Given the description of an element on the screen output the (x, y) to click on. 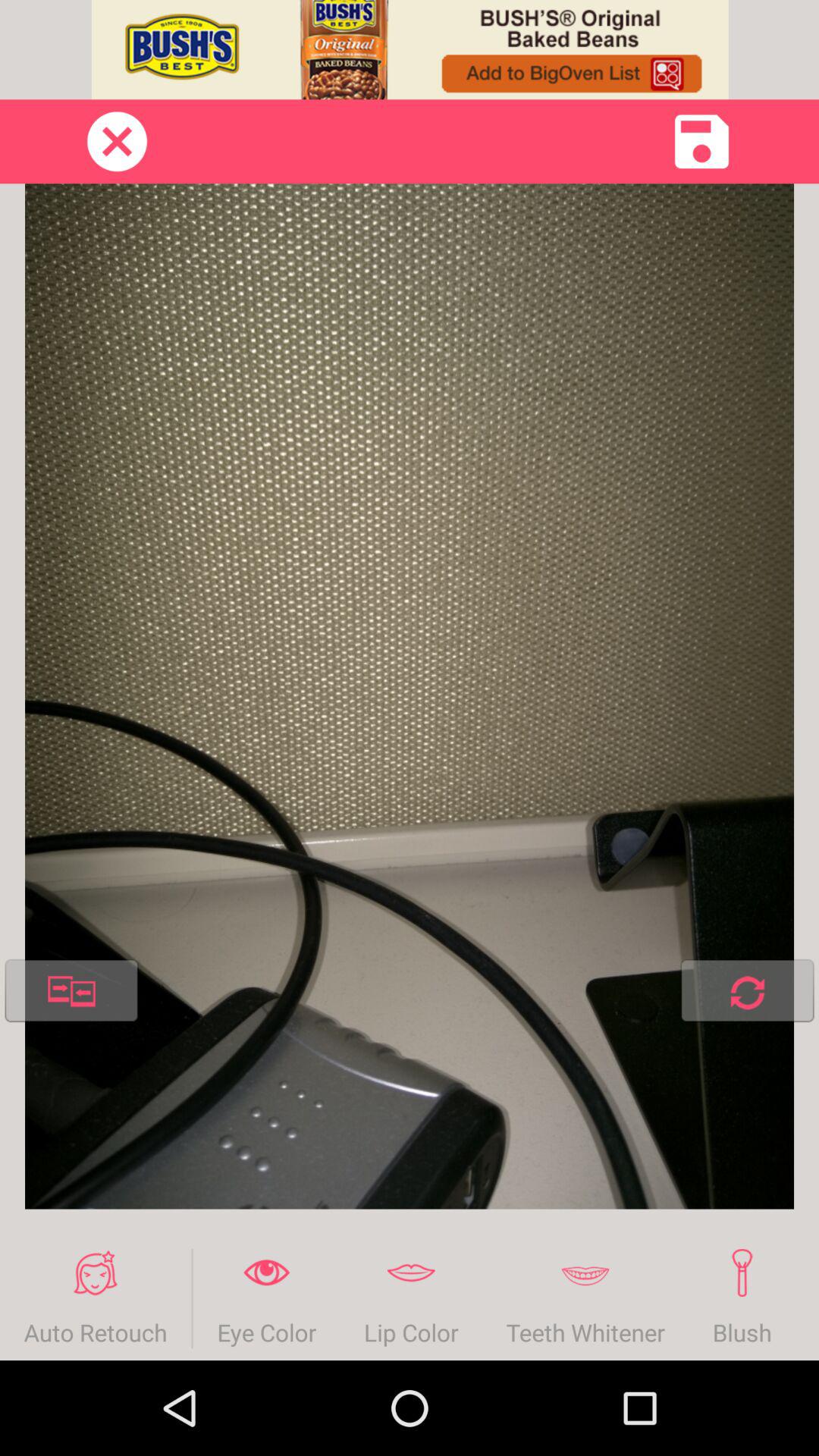
jump to the compare item (71, 994)
